Given the description of an element on the screen output the (x, y) to click on. 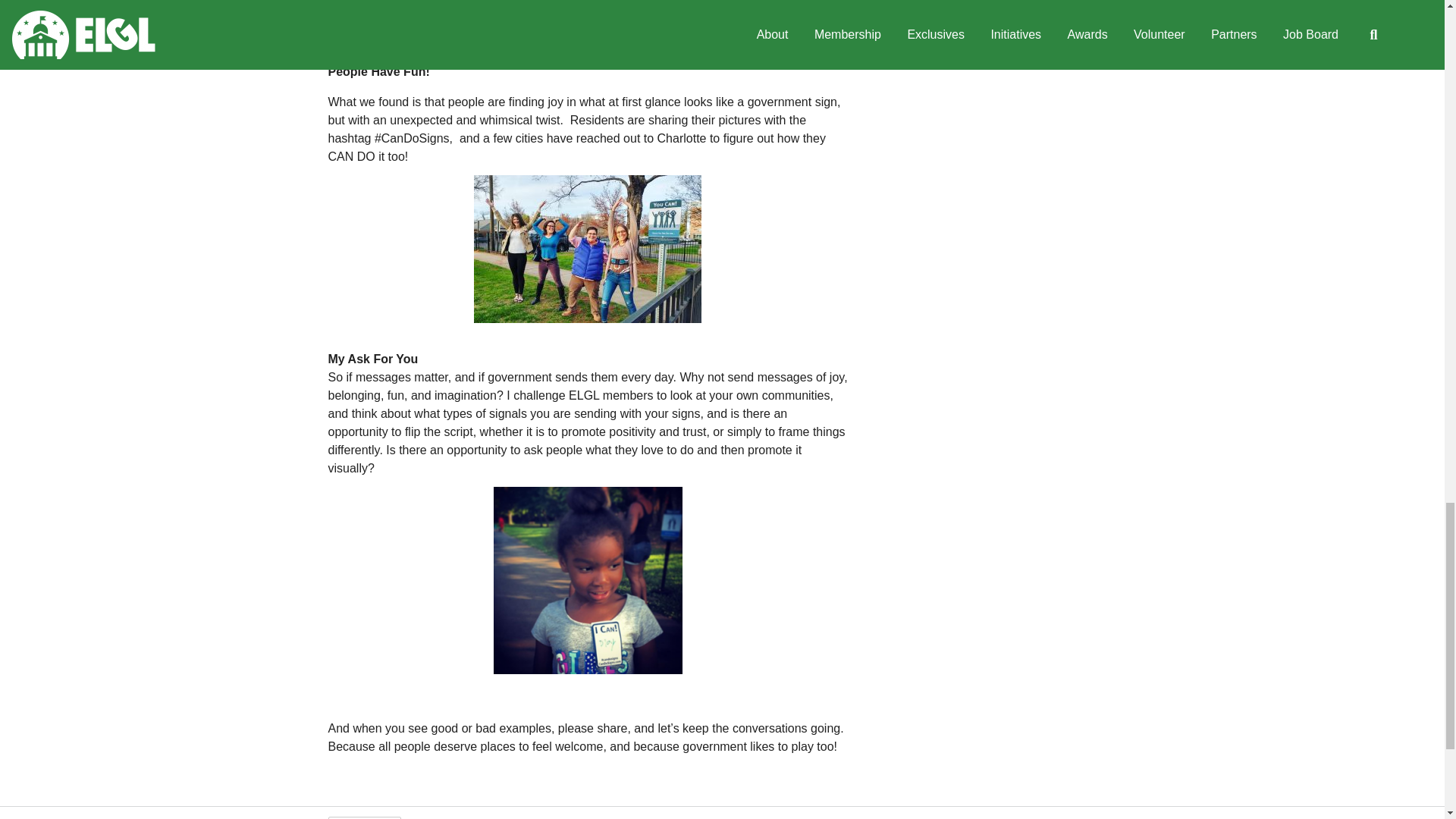
Share (436, 815)
Helpful (364, 817)
This page makes me proud (364, 817)
Translate (580, 815)
Translate (580, 815)
Size (504, 815)
